Given the description of an element on the screen output the (x, y) to click on. 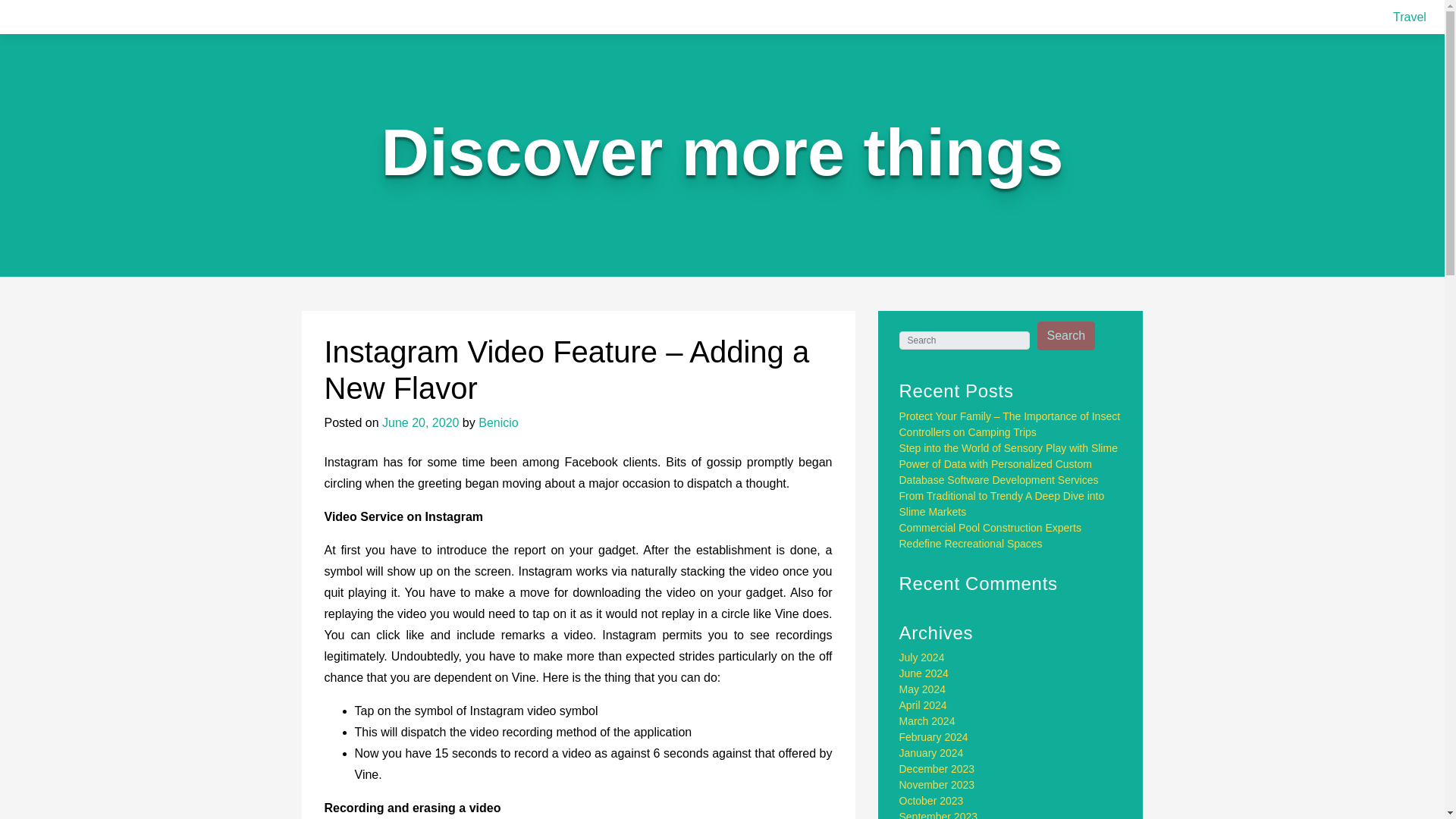
December 2023 (937, 768)
Step into the World of Sensory Play with Slime (1008, 448)
Benicio (498, 422)
November 2023 (937, 784)
June 2024 (924, 673)
February 2024 (933, 736)
Search (1066, 335)
Travel (1409, 16)
September 2023 (938, 814)
